Given the description of an element on the screen output the (x, y) to click on. 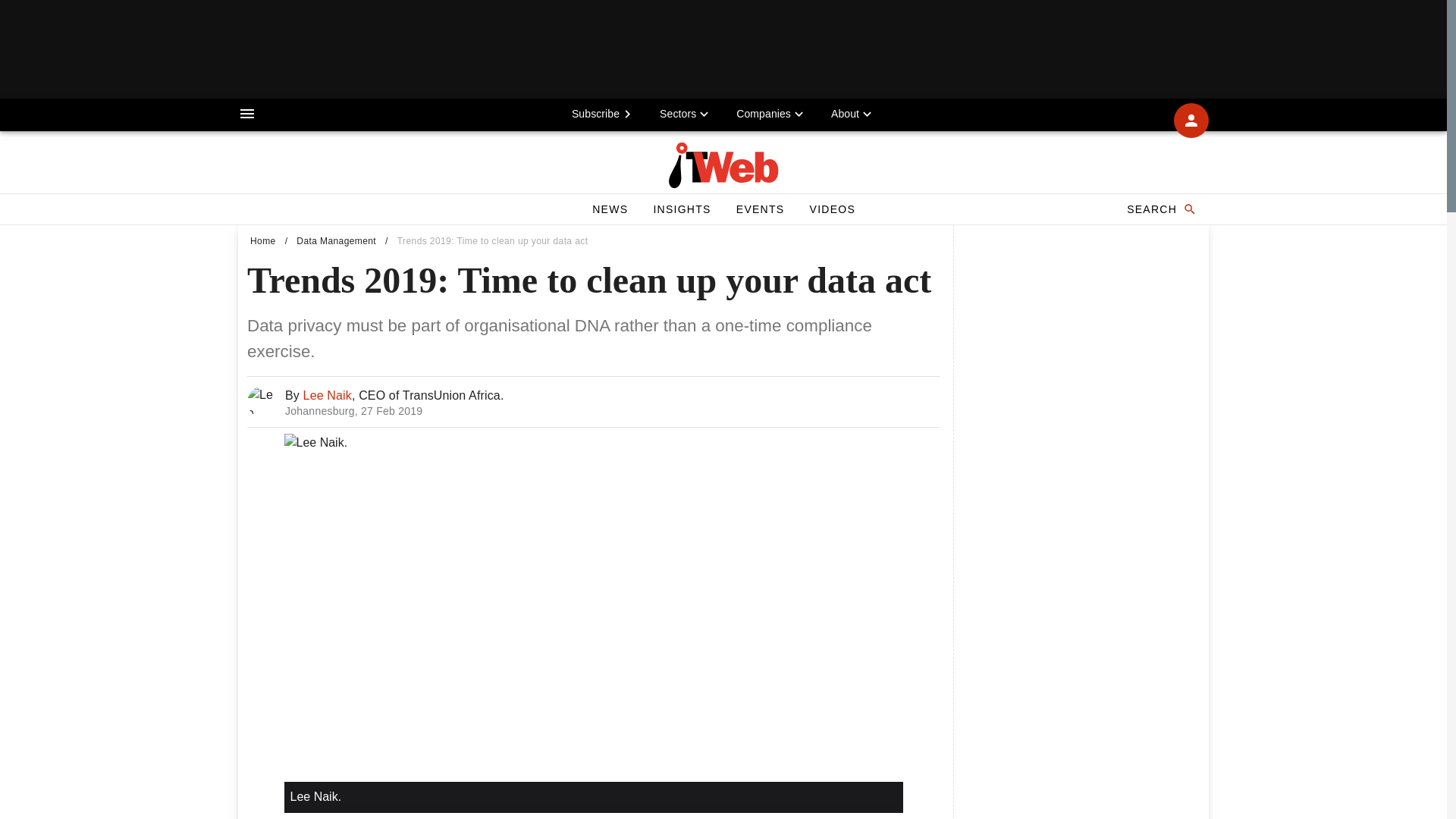
SEARCH (1160, 209)
EVENTS (759, 208)
Subscribe (603, 113)
INSIGHTS (681, 208)
Data Management (336, 241)
Home (263, 241)
VIDEOS (831, 208)
NEWS (609, 208)
